Given the description of an element on the screen output the (x, y) to click on. 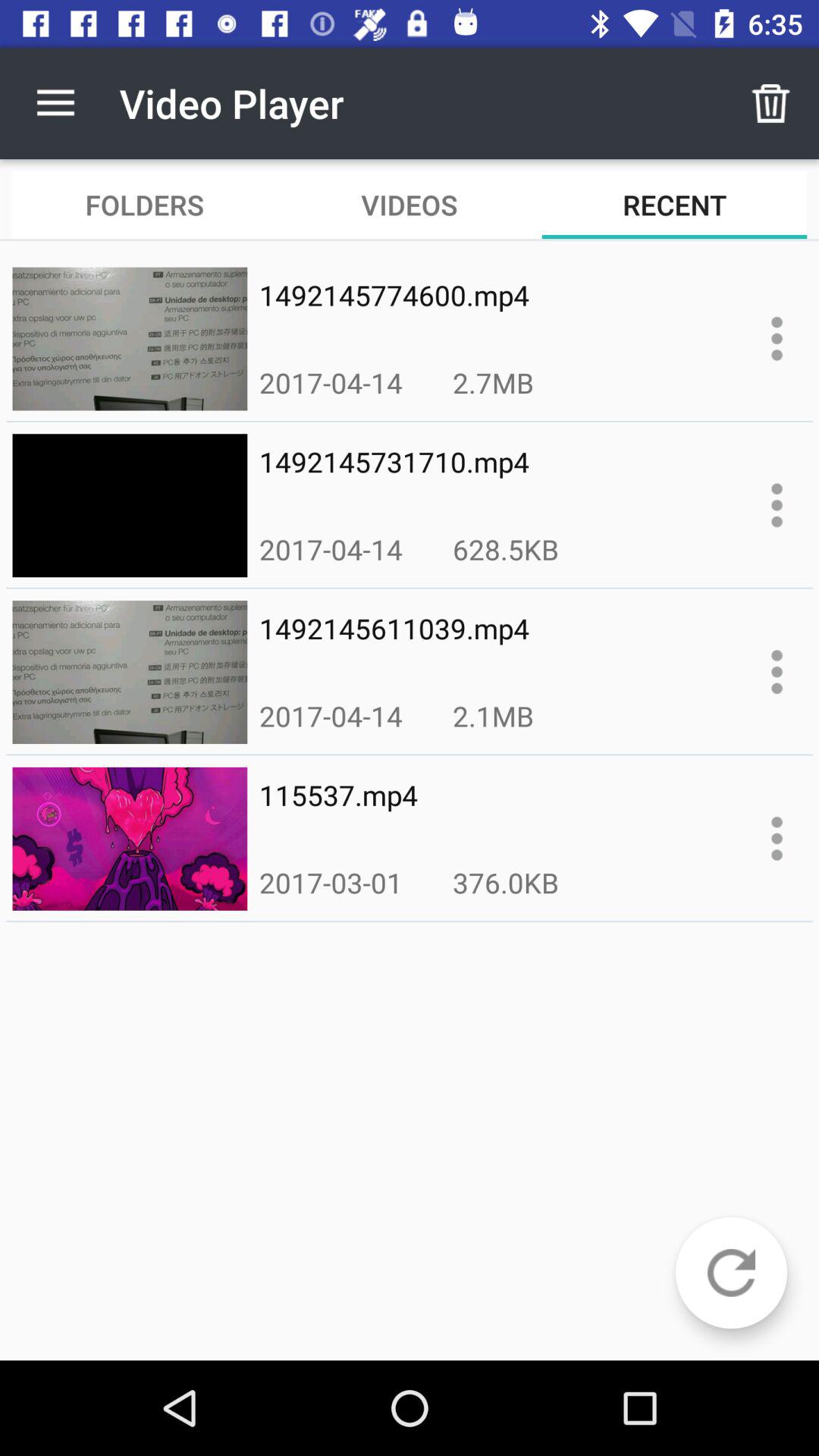
press item next to 376.0kb item (330, 882)
